Given the description of an element on the screen output the (x, y) to click on. 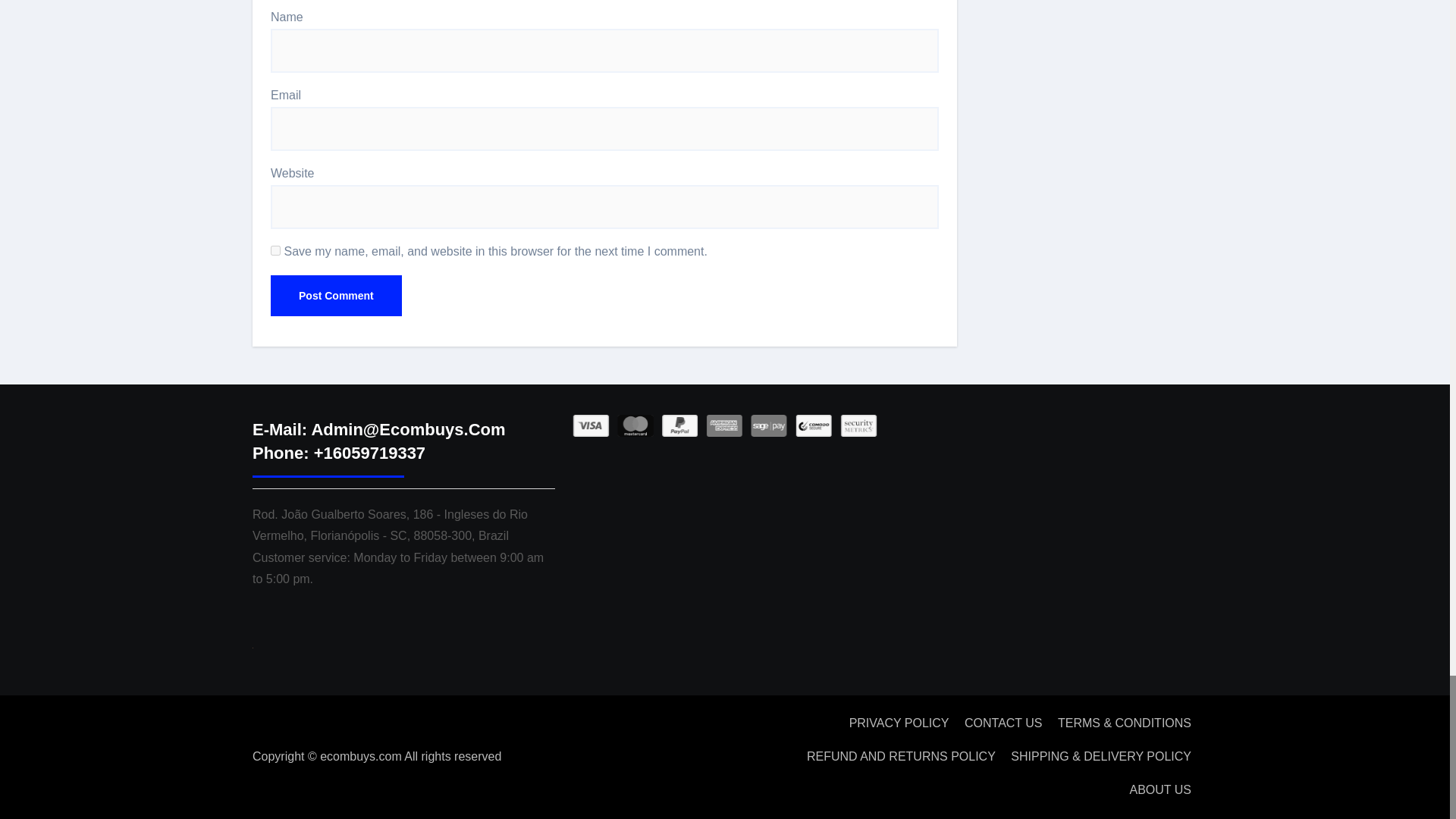
CONTACT US (1003, 723)
yes (275, 250)
REFUND AND RETURNS POLICY (900, 756)
Post Comment (335, 295)
PRIVACY POLICY (899, 723)
